Given the description of an element on the screen output the (x, y) to click on. 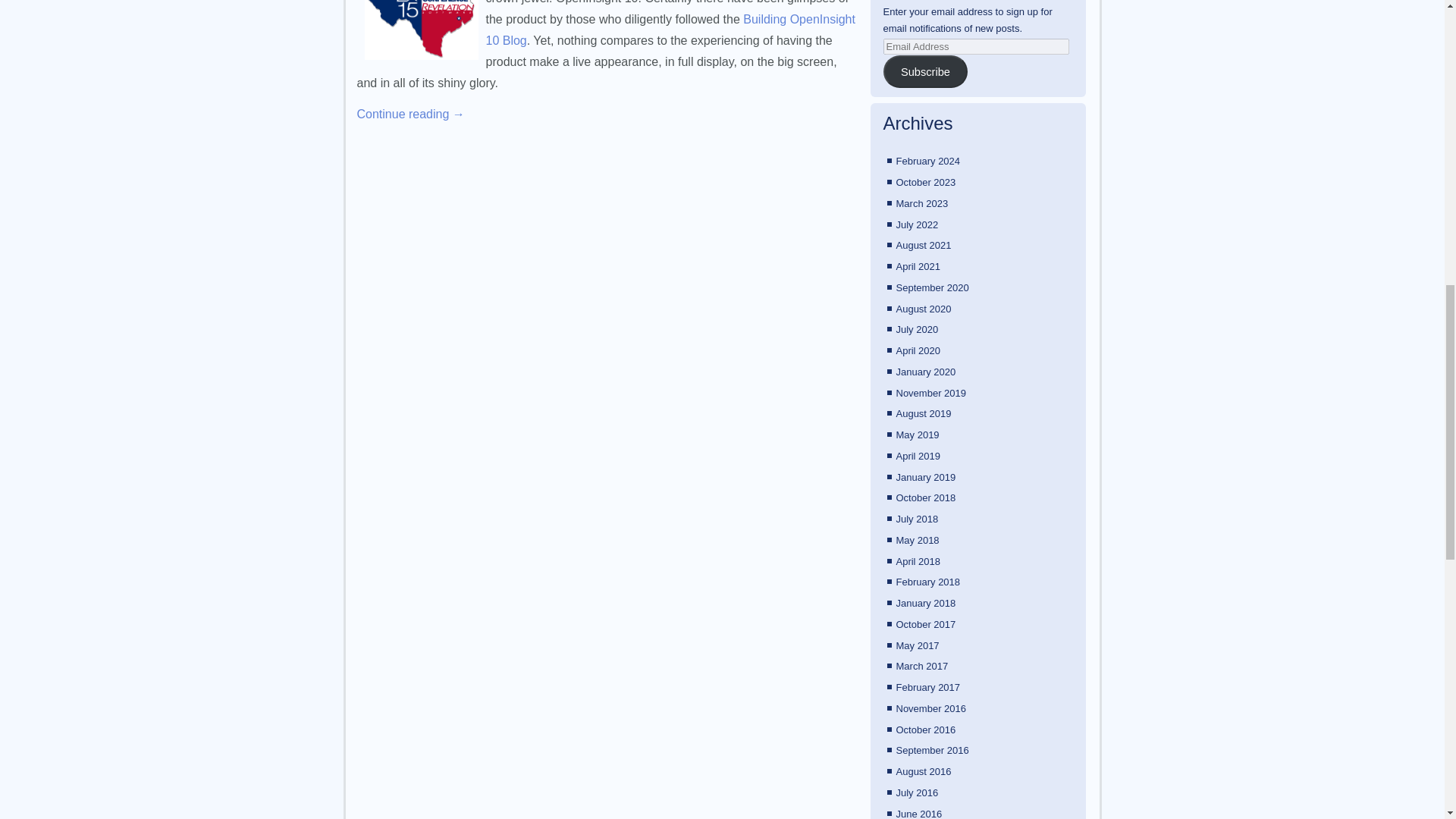
October 2023 (926, 182)
February 2024 (928, 161)
Subscribe (925, 71)
Building OpenInsight 10 Blog (669, 29)
